Given the description of an element on the screen output the (x, y) to click on. 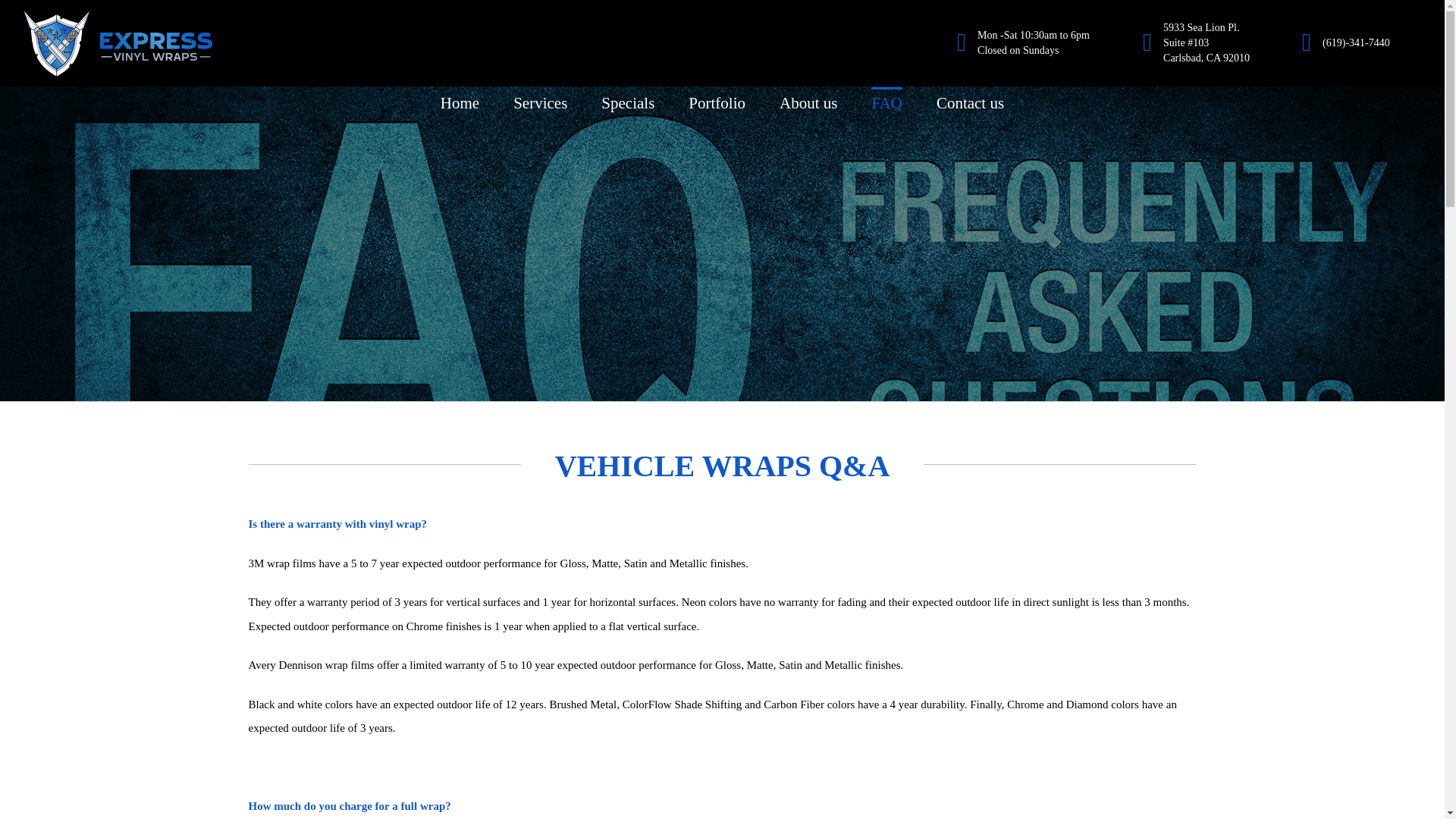
About us (807, 101)
FAQ (885, 101)
Specials (627, 101)
Portfolio (716, 101)
Services (540, 101)
Contact us (970, 101)
Home (460, 101)
